Given the description of an element on the screen output the (x, y) to click on. 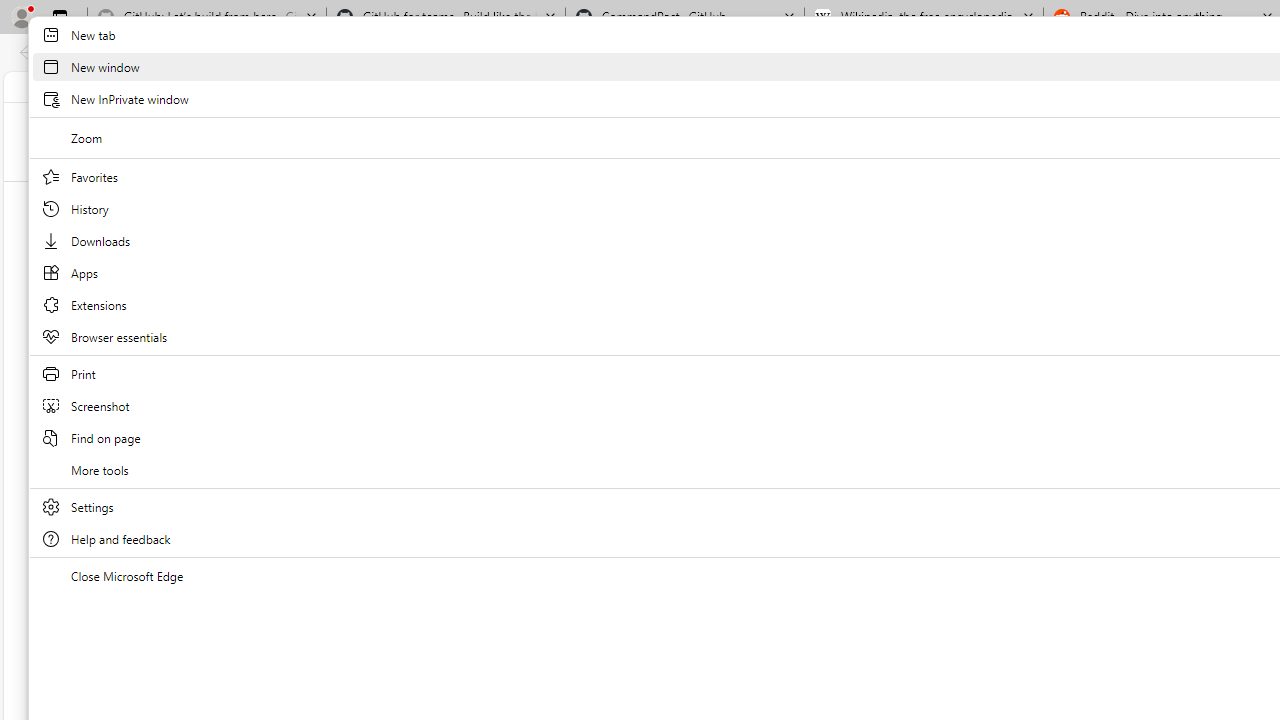
Help & Contact (915, 86)
eBay Home (694, 139)
Saved (793, 199)
Daily Deals (817, 86)
Wikipedia, the free encyclopedia (924, 17)
Motors (950, 198)
Help & Contact (914, 85)
Saved (792, 198)
Electronics (870, 198)
